Given the description of an element on the screen output the (x, y) to click on. 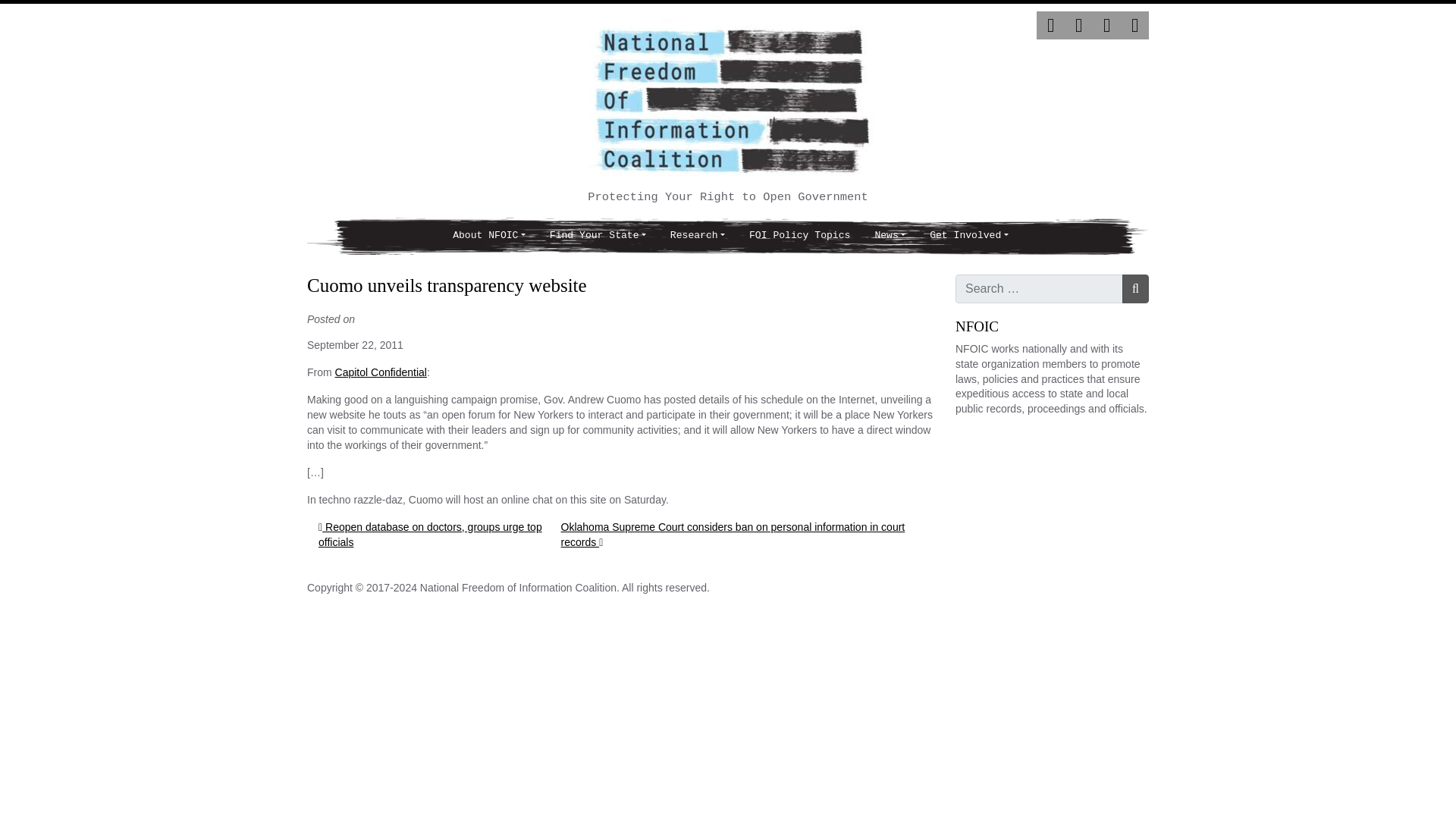
YouTube (1134, 25)
Capitol Confidential (380, 372)
Research (697, 235)
News (889, 235)
Instagram (1107, 25)
About NFOIC (489, 235)
Find Your State (597, 235)
About NFOIC (489, 235)
Facebook (1078, 25)
Twitter (1050, 25)
